Given the description of an element on the screen output the (x, y) to click on. 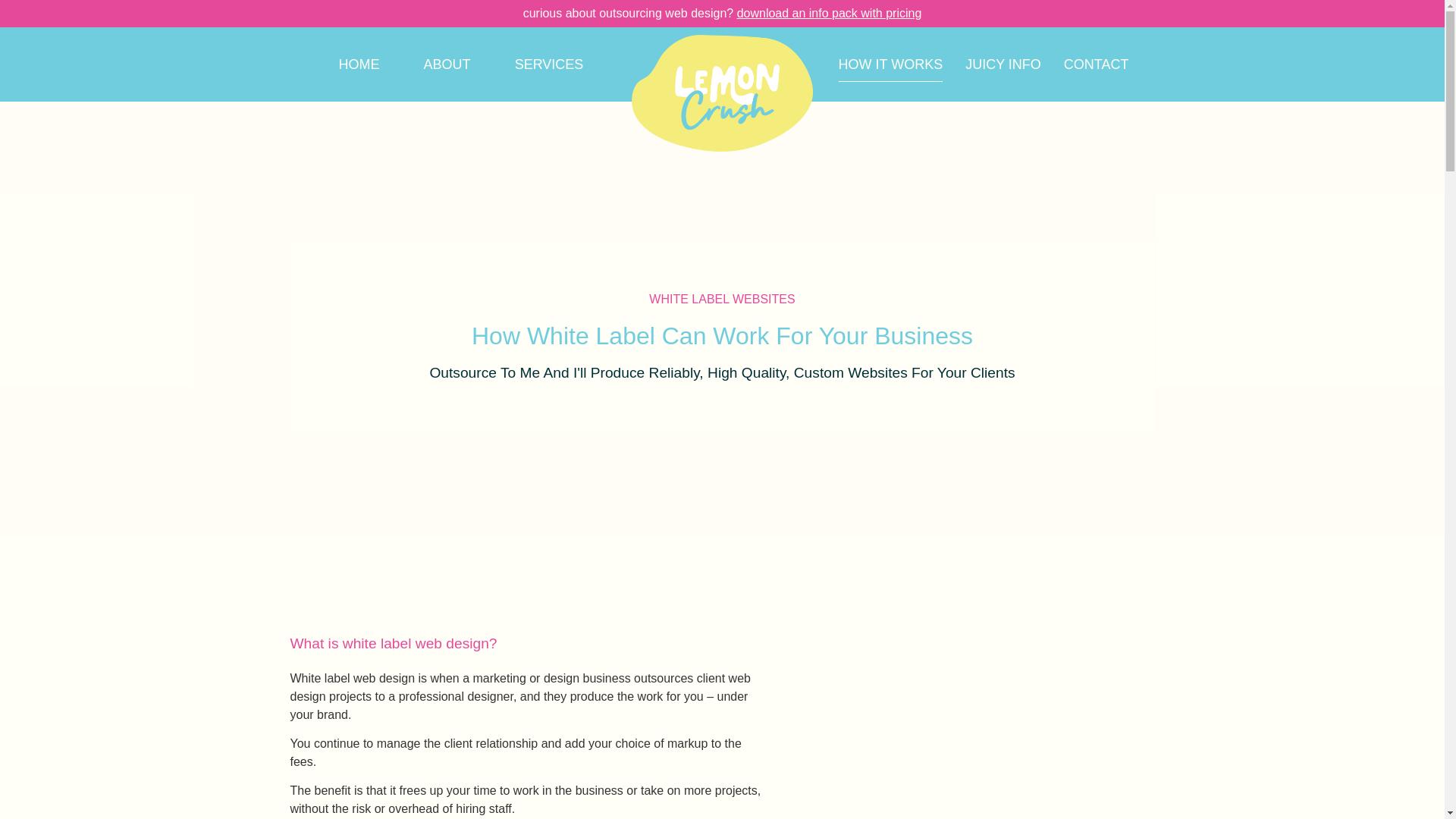
HOW IT WORKS (890, 63)
ABOUT (446, 63)
JUICY INFO (1003, 63)
SERVICES (549, 63)
CONTACT (1096, 63)
HOME (359, 63)
